Given the description of an element on the screen output the (x, y) to click on. 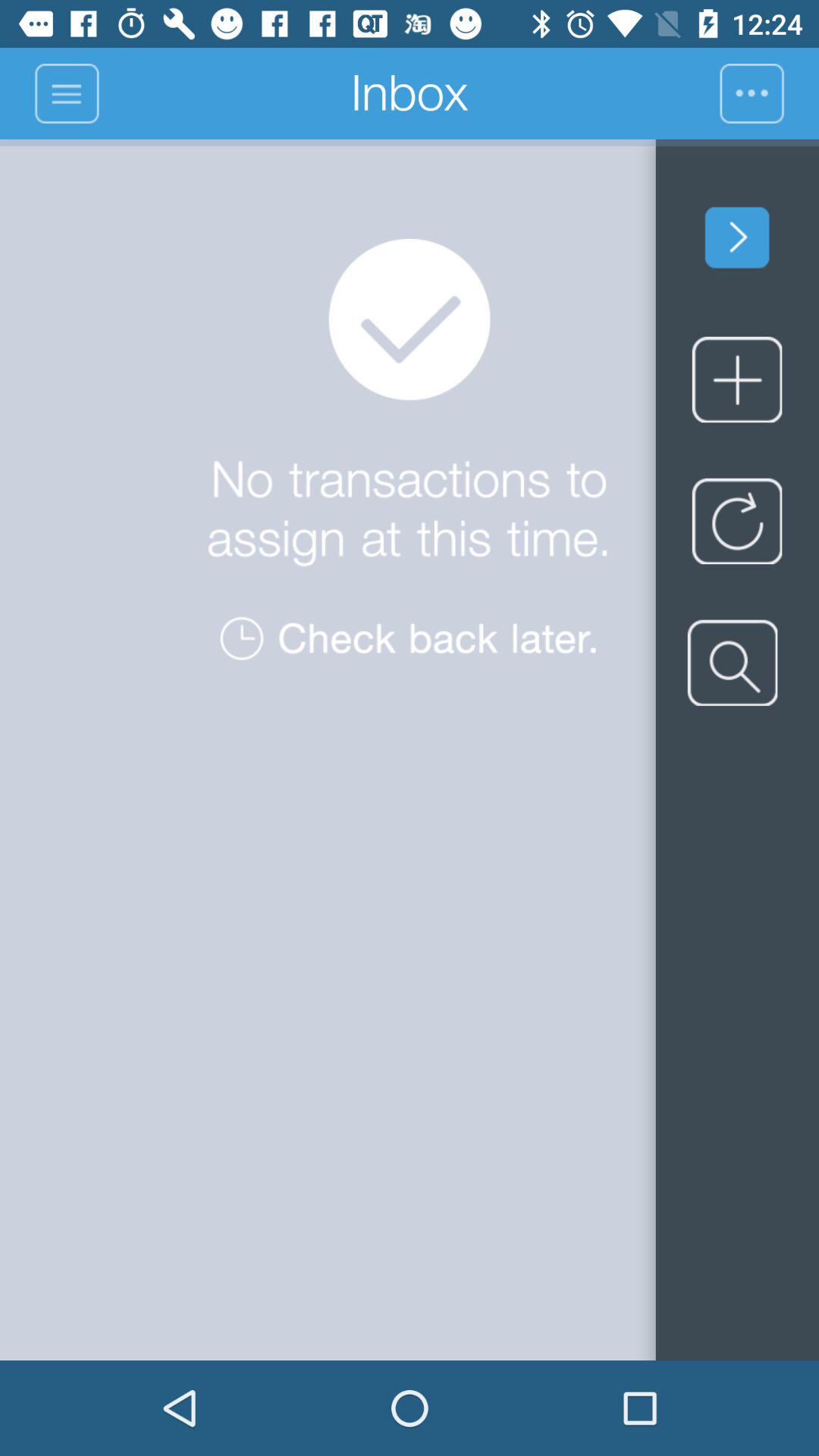
launch the icon next to the inbox (769, 93)
